Given the description of an element on the screen output the (x, y) to click on. 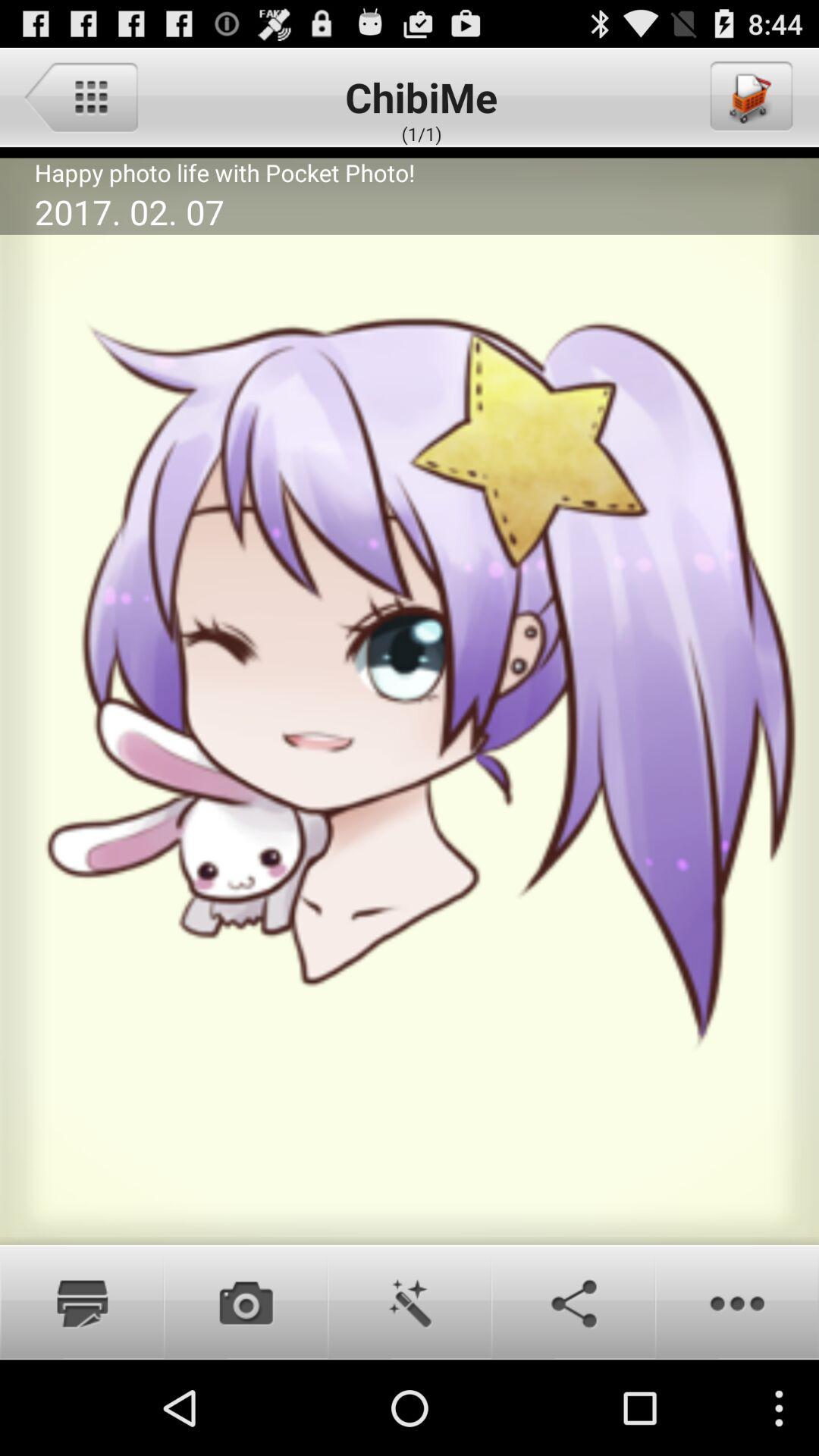
print photo (81, 1301)
